Given the description of an element on the screen output the (x, y) to click on. 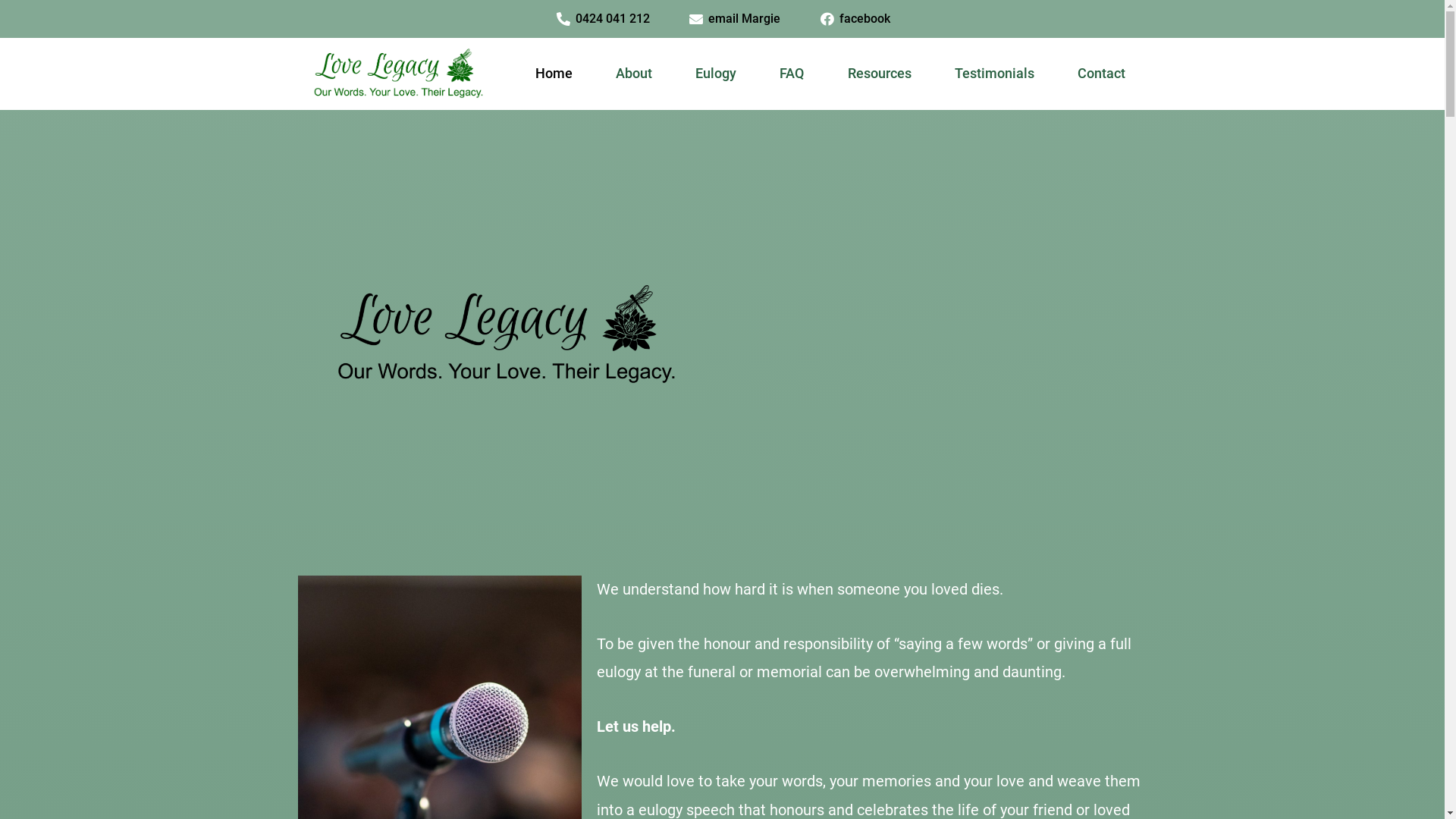
Eulogy Element type: text (716, 73)
Home Element type: text (554, 73)
Testimonials Element type: text (993, 73)
email Margie Element type: text (734, 18)
facebook Element type: text (854, 18)
FAQ Element type: text (791, 73)
Resources Element type: text (878, 73)
Contact Element type: text (1100, 73)
About Element type: text (634, 73)
